Given the description of an element on the screen output the (x, y) to click on. 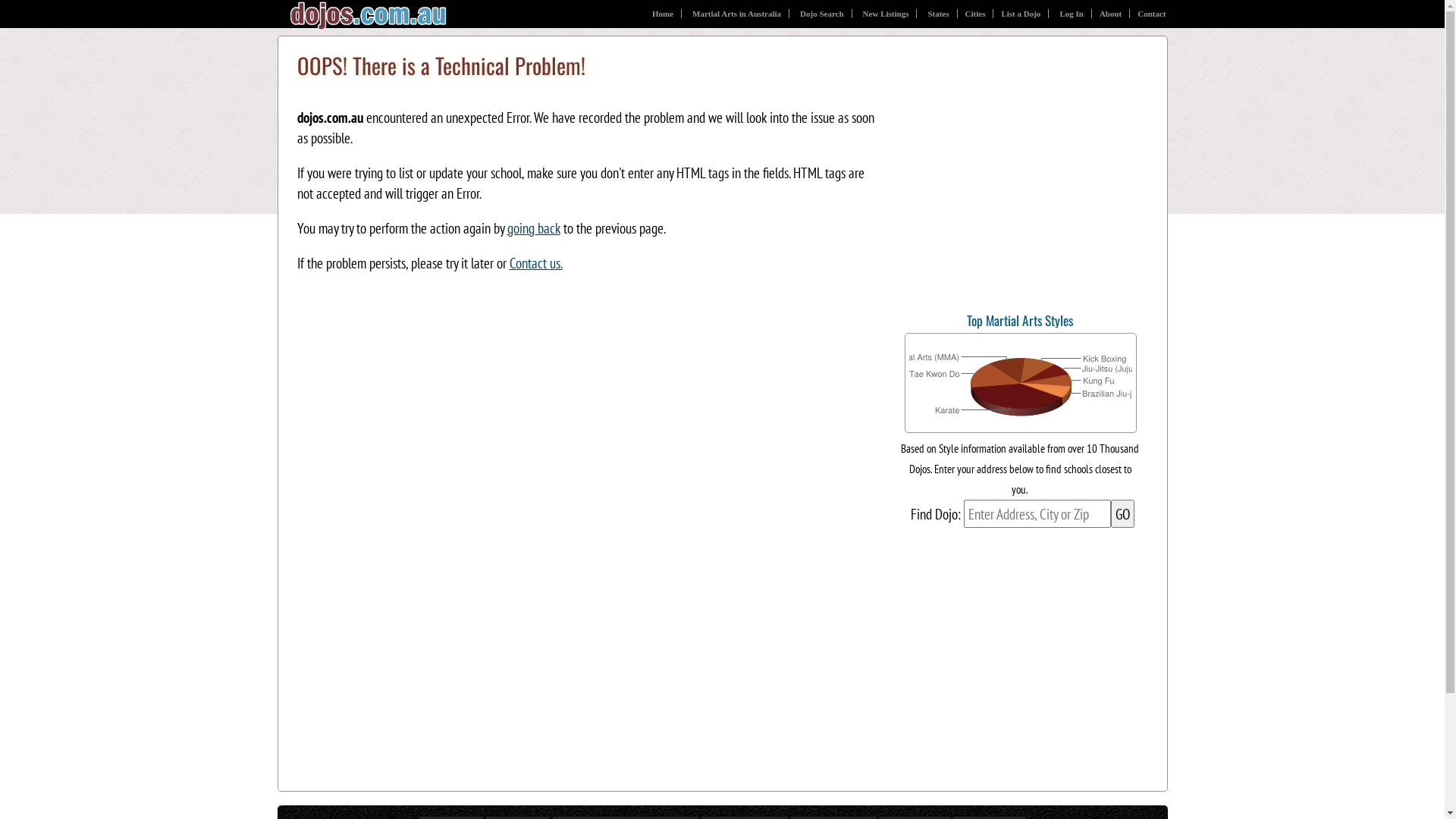
Advertisement Element type: hover (722, 648)
List a Dojo Element type: text (1020, 13)
New Listings Element type: text (886, 13)
Dojo Search Element type: text (822, 13)
Home Element type: text (662, 13)
Log In Element type: text (1071, 13)
Contact us. Element type: text (535, 262)
Cities Element type: text (975, 13)
About Element type: text (1110, 13)
States Element type: text (938, 13)
going back Element type: text (532, 227)
Advertisement Element type: hover (1006, 187)
GO Element type: text (1122, 513)
Martial Arts in Australia Element type: text (736, 13)
Contact Element type: text (1147, 13)
